Given the description of an element on the screen output the (x, y) to click on. 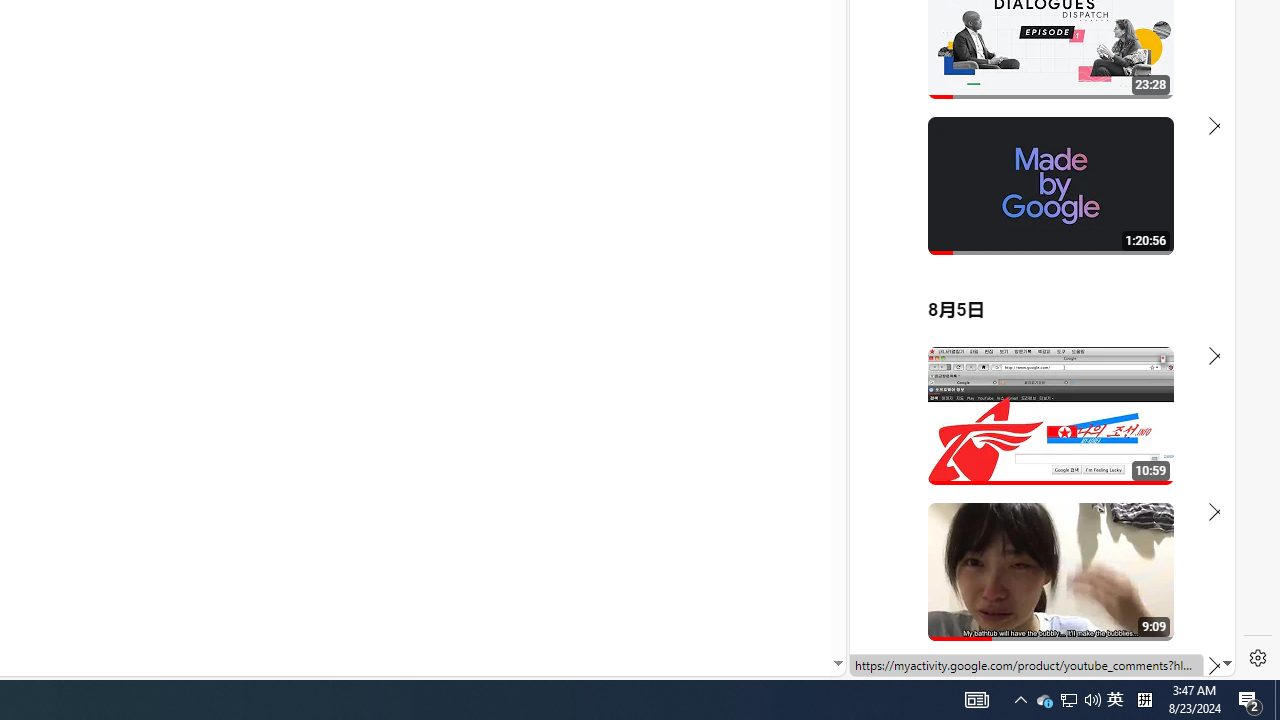
Click to scroll right (1196, 83)
Class: dict_pnIcon rms_img (1028, 660)
you (1034, 609)
US[ju] (917, 660)
YouTube (1034, 432)
YouTube - YouTube (1034, 266)
